Given the description of an element on the screen output the (x, y) to click on. 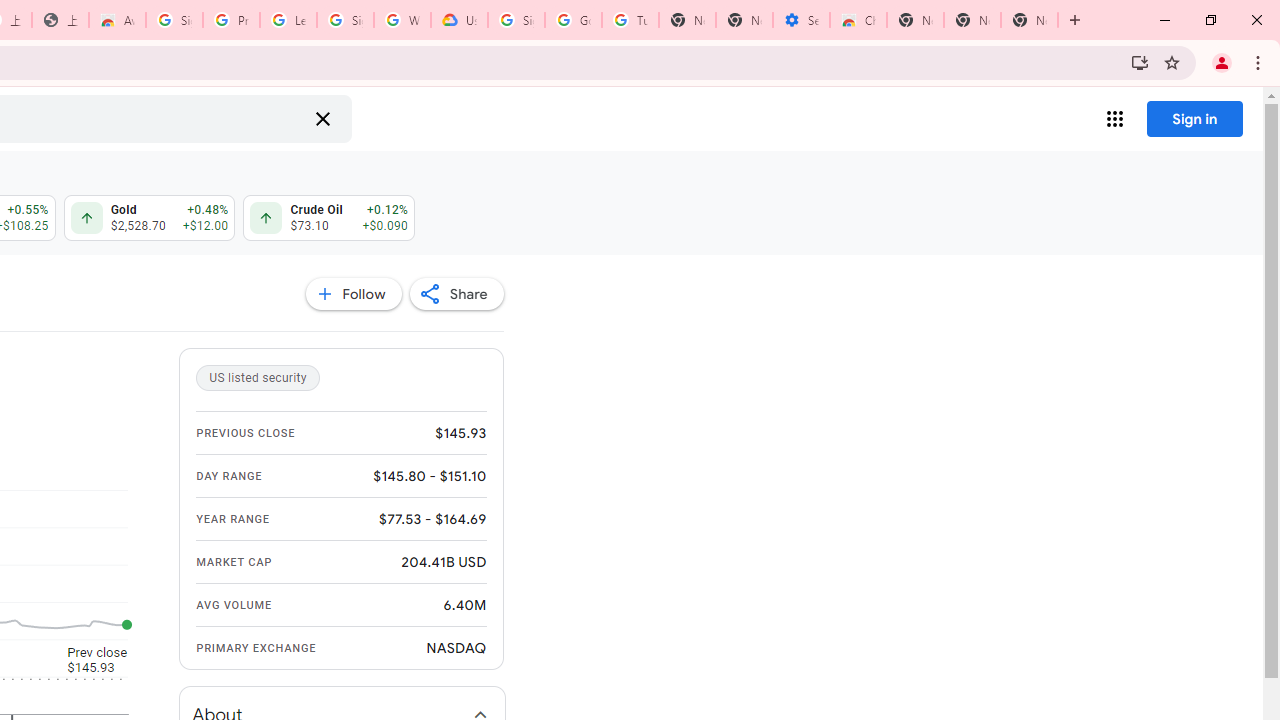
New Tab (915, 20)
Who are Google's partners? - Privacy and conditions - Google (402, 20)
Minimize (1165, 20)
Follow (353, 293)
New Tab (1029, 20)
You (1221, 62)
Sign in - Google Accounts (516, 20)
Gold $2,528.70 $2,529.00 Up by 0.48% +$12.00 +$12.30 (148, 218)
Sign in (1194, 118)
Sign in - Google Accounts (174, 20)
Awesome Screen Recorder & Screenshot - Chrome Web Store (116, 20)
New Tab (1075, 20)
Share (456, 293)
Close (1256, 20)
